Given the description of an element on the screen output the (x, y) to click on. 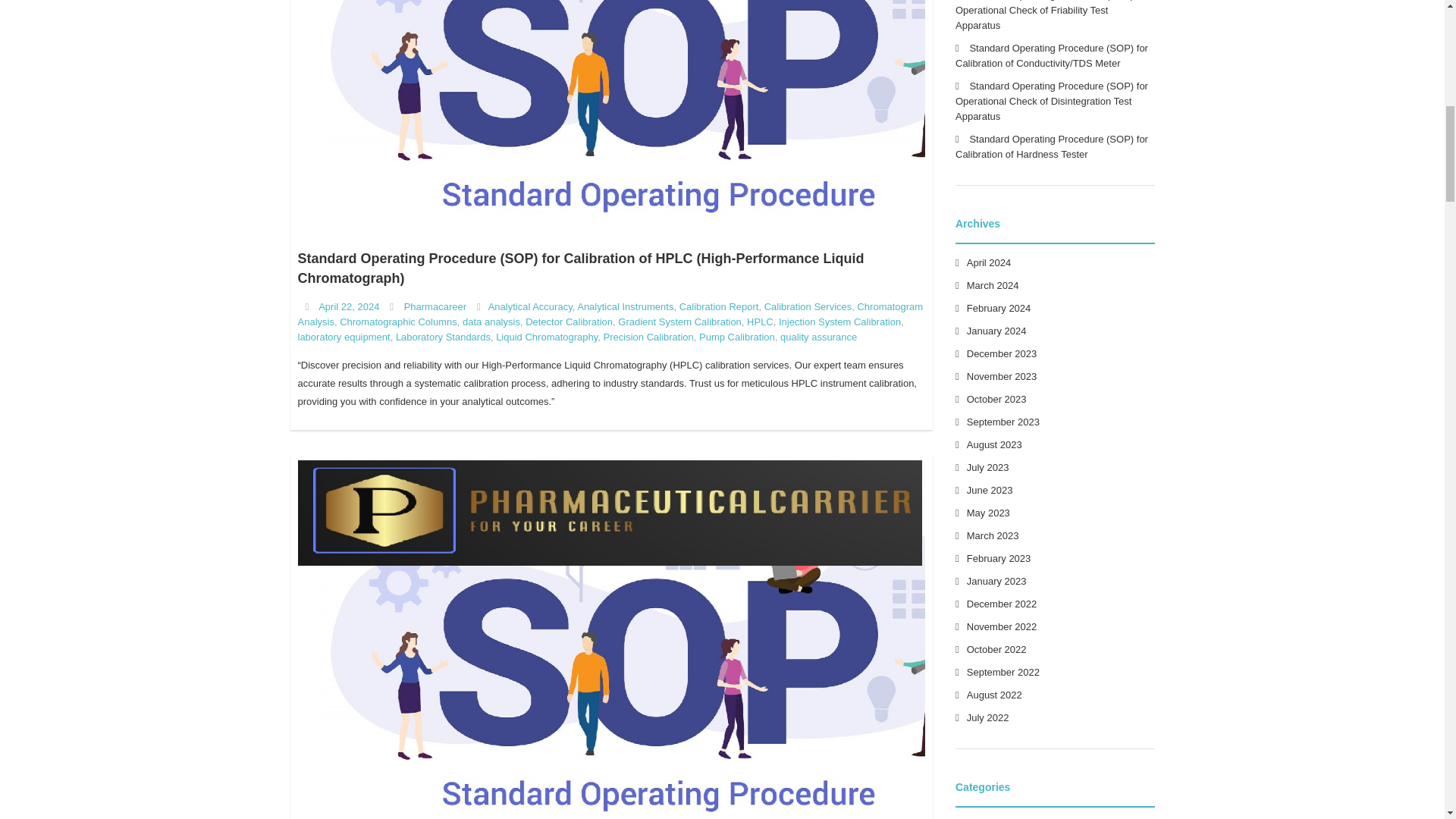
6:27 pm (348, 306)
Chromatographic Columns (398, 321)
April 22, 2024 (348, 306)
Chromatogram Analysis (610, 314)
Calibration Services (807, 306)
data analysis (491, 321)
Pharmacareer (434, 306)
View all posts by Pharmacareer (434, 306)
Analytical Instruments (624, 306)
Calibration Report (718, 306)
